Given the description of an element on the screen output the (x, y) to click on. 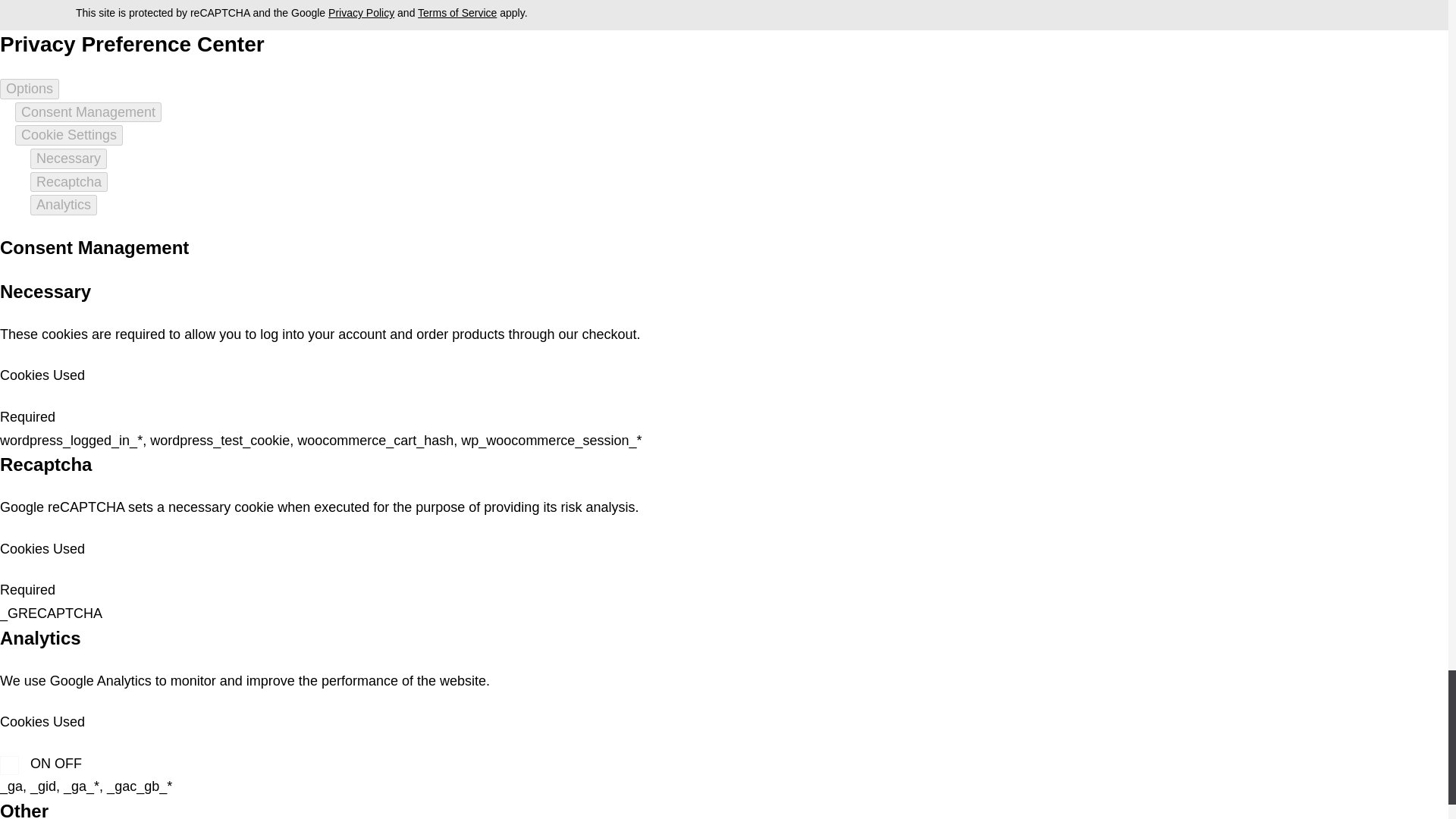
Terms of Service (456, 12)
Options (29, 88)
Consent Management (87, 112)
Privacy Policy (361, 12)
